Given the description of an element on the screen output the (x, y) to click on. 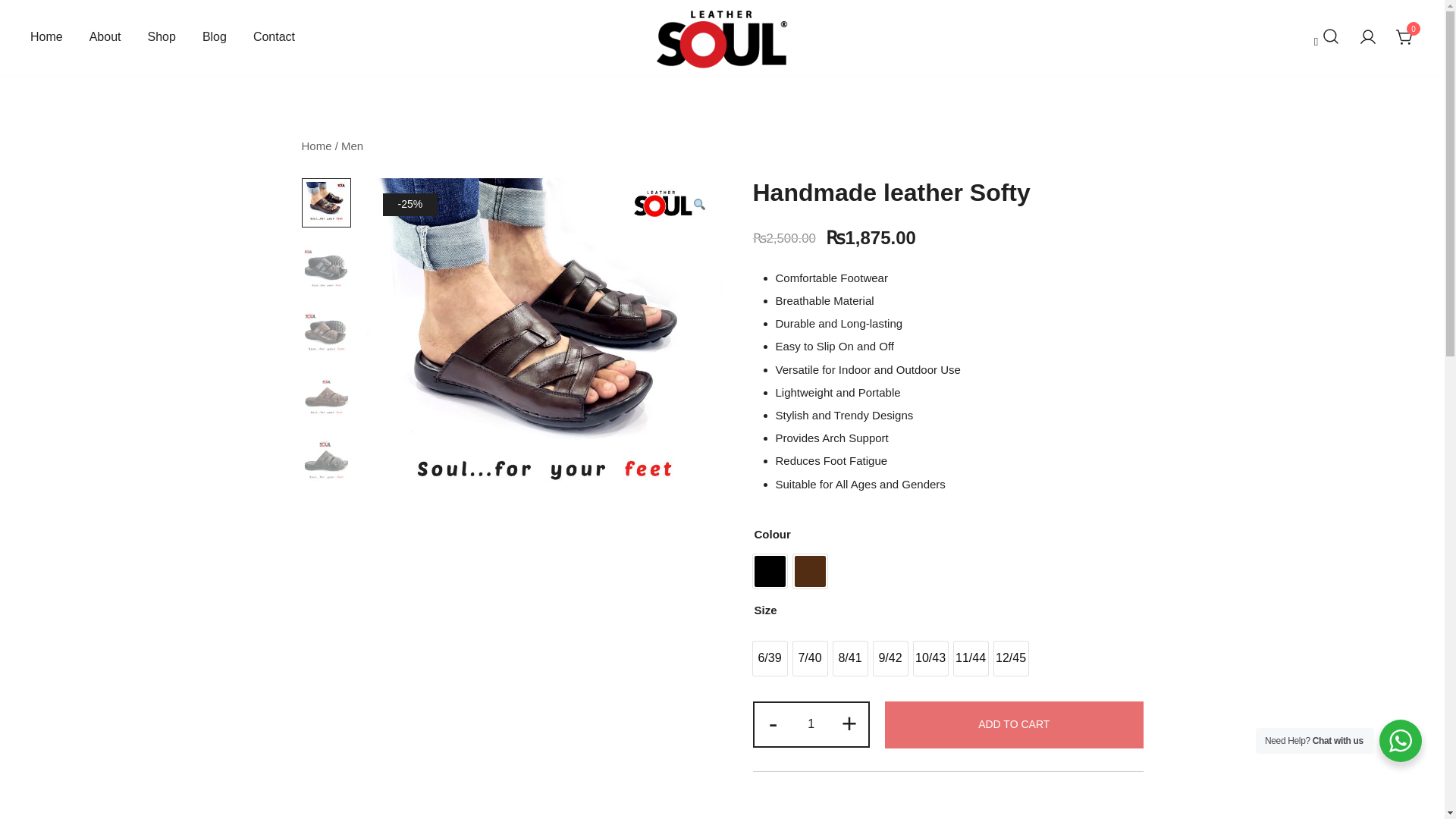
Home (46, 37)
View your shopping cart (1404, 35)
0 (1404, 36)
Home (316, 145)
Men (351, 145)
Contact (274, 37)
Leather Soul Pakistan (725, 86)
softy 5 (543, 343)
ADD TO CART (1013, 724)
0 (1404, 35)
